Given the description of an element on the screen output the (x, y) to click on. 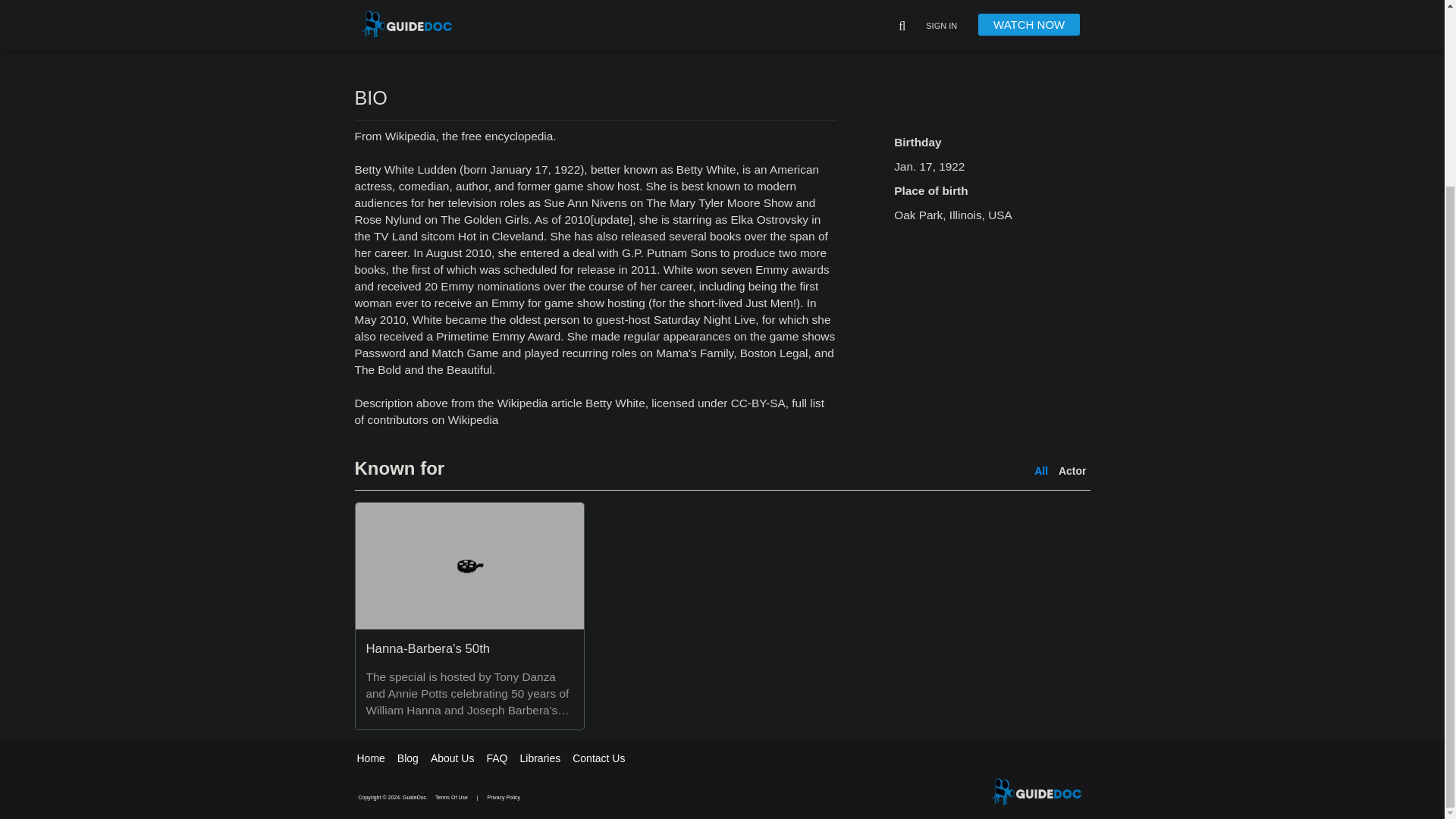
Contact Us (598, 758)
Actor (1072, 470)
About Us (452, 758)
Home (370, 758)
All (1040, 470)
Privacy Policy (504, 797)
Libraries (539, 758)
Blog (408, 758)
FAQ (496, 758)
Terms Of Use (451, 797)
